Given the description of an element on the screen output the (x, y) to click on. 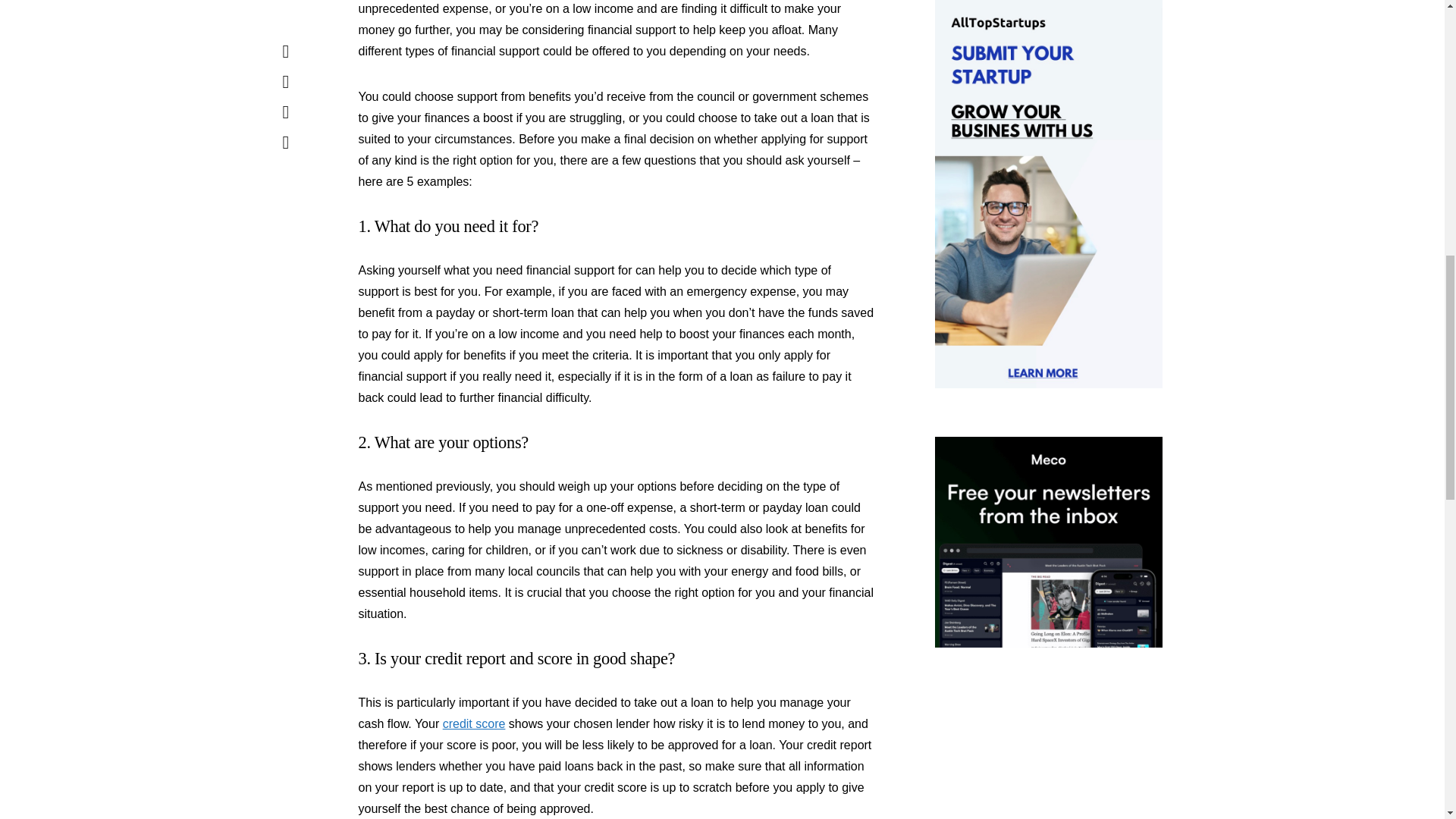
credit score (473, 723)
